Given the description of an element on the screen output the (x, y) to click on. 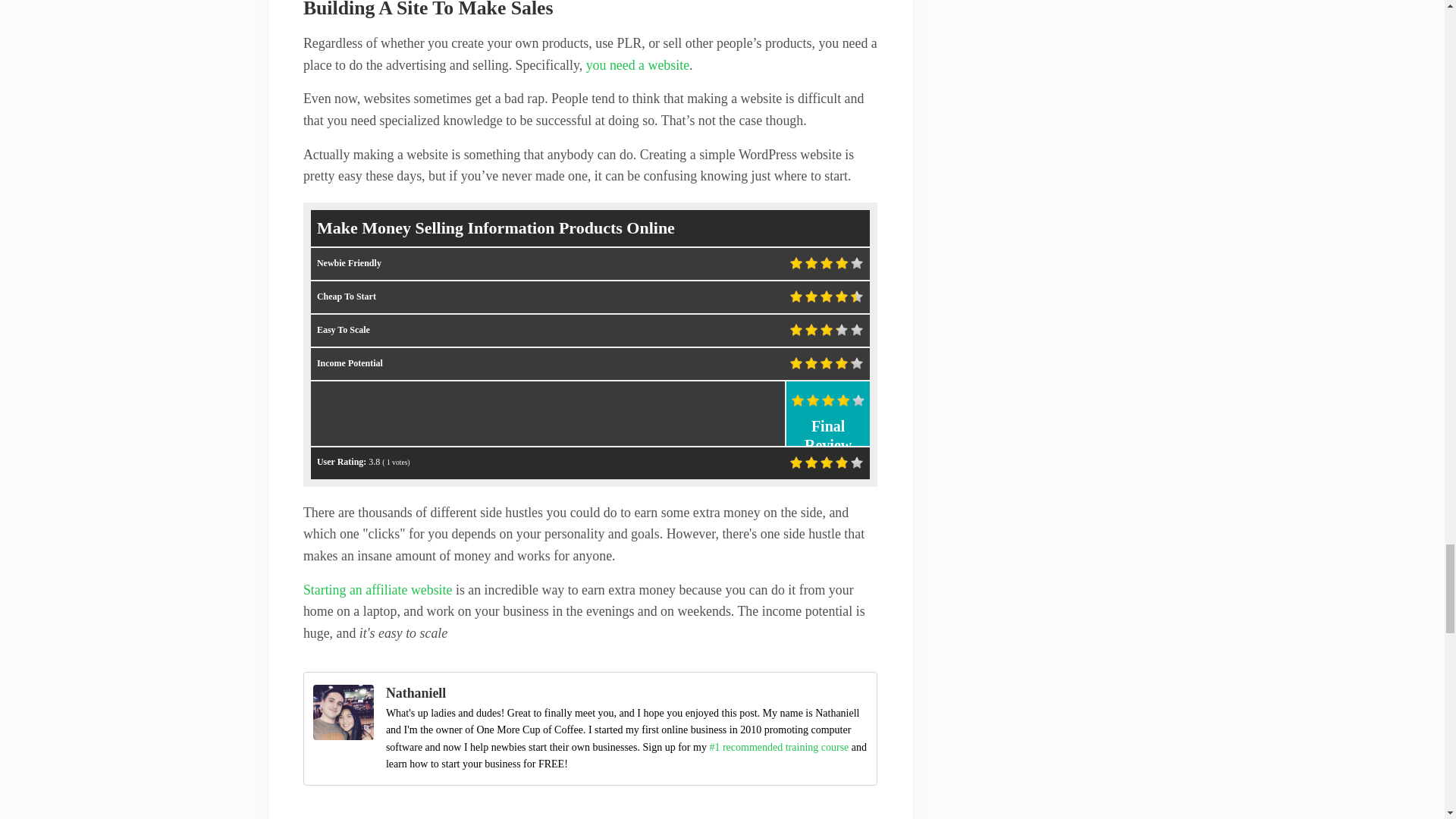
Starting an affiliate website (377, 589)
Final Review (827, 401)
you need a website (637, 64)
